Given the description of an element on the screen output the (x, y) to click on. 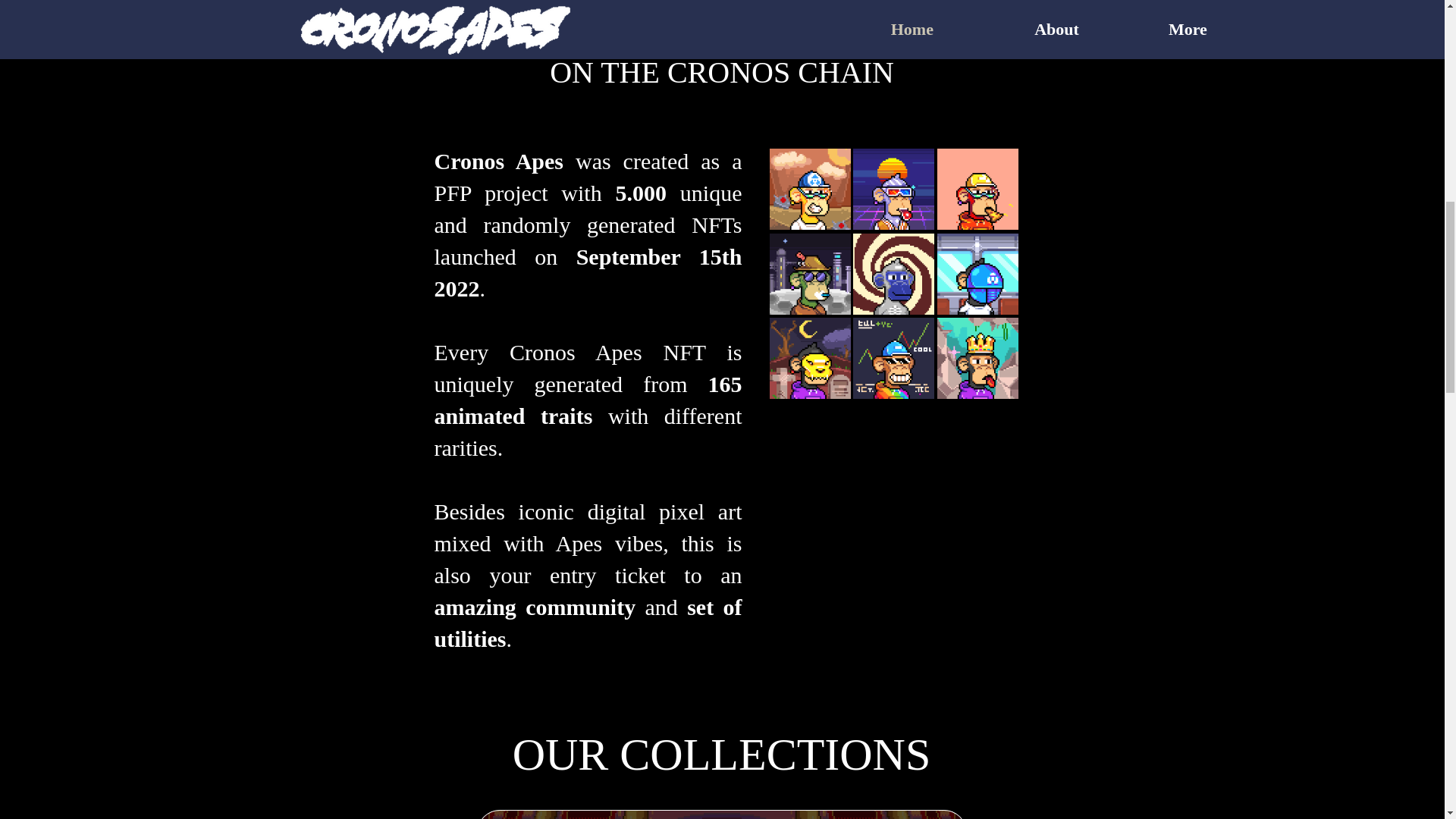
4977.gif (809, 189)
4295.gif (892, 189)
2299.gif (892, 273)
4743.gif (809, 273)
Sfondo sito.gif (721, 814)
4161.gif (977, 273)
3285.gif (892, 357)
3227.gif (809, 357)
4487.gif (977, 357)
2346.gif (977, 189)
